Given the description of an element on the screen output the (x, y) to click on. 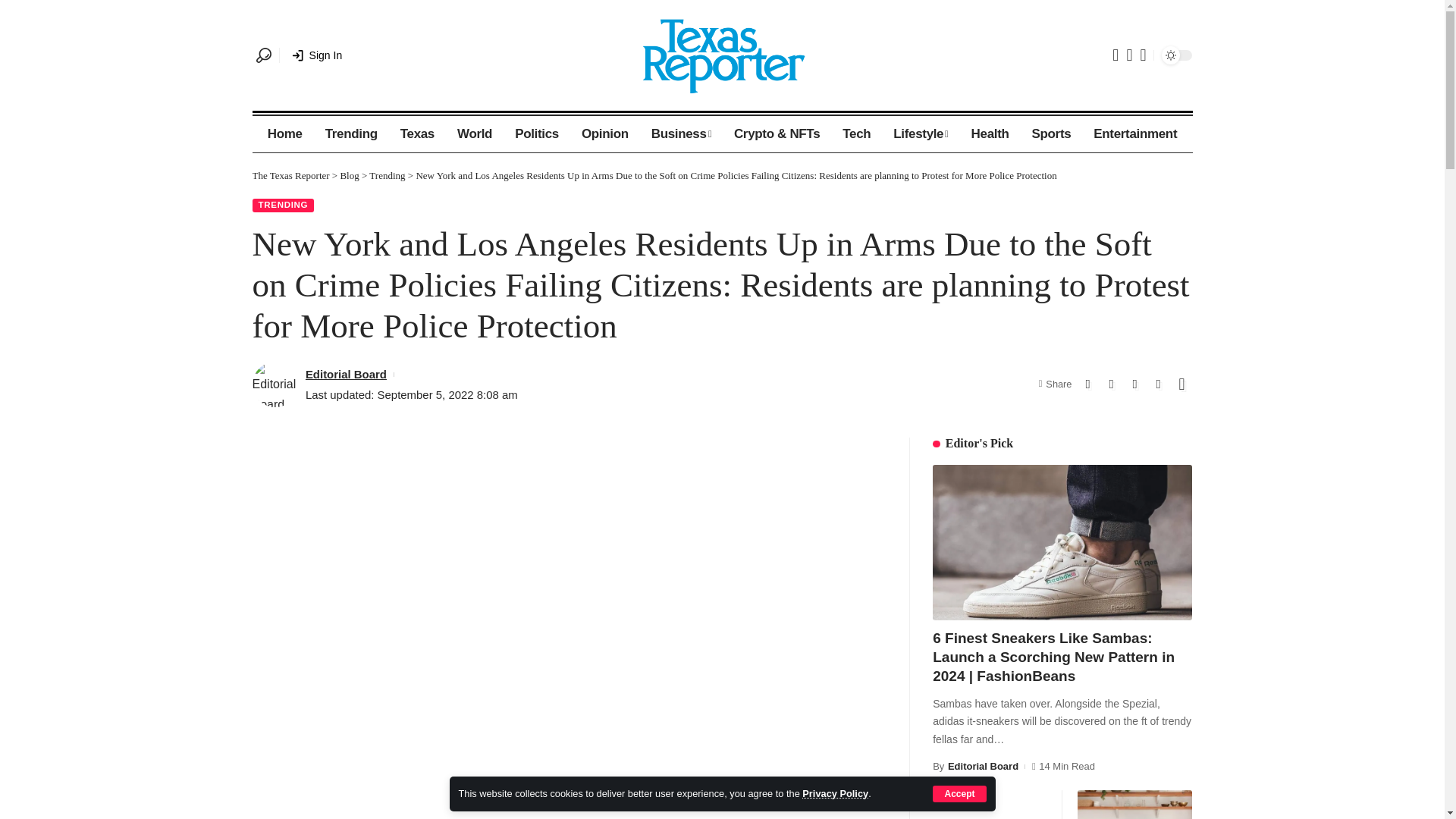
Go to the Trending Category archives. (386, 174)
Accept (959, 793)
The Greatest Cooling Sheets for Sizzling Summer time Nights (989, 804)
Entertainment (1134, 134)
Health (989, 134)
Tech (856, 134)
Go to The Texas Reporter. (290, 174)
Business (681, 134)
Sign In (317, 55)
Sports (1051, 134)
